Given the description of an element on the screen output the (x, y) to click on. 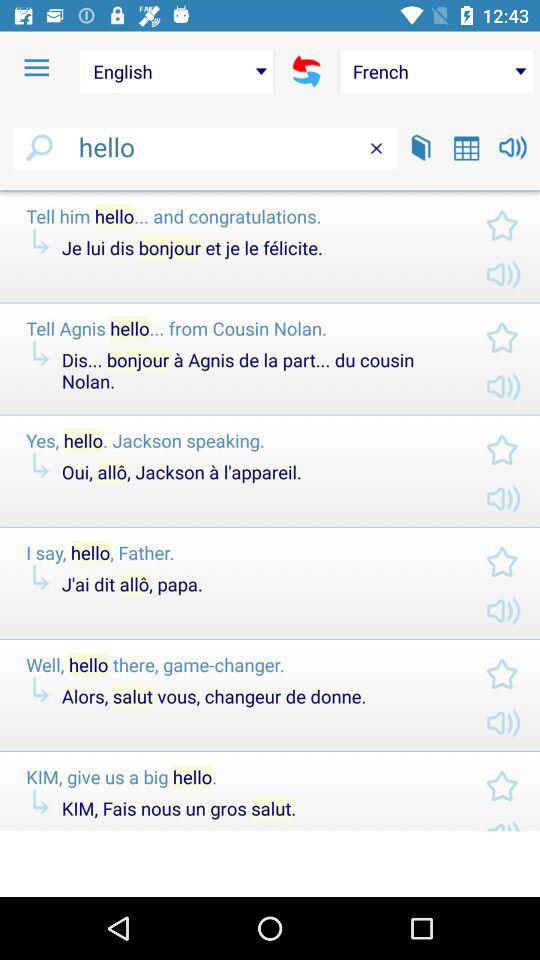
swipe to english icon (176, 71)
